Given the description of an element on the screen output the (x, y) to click on. 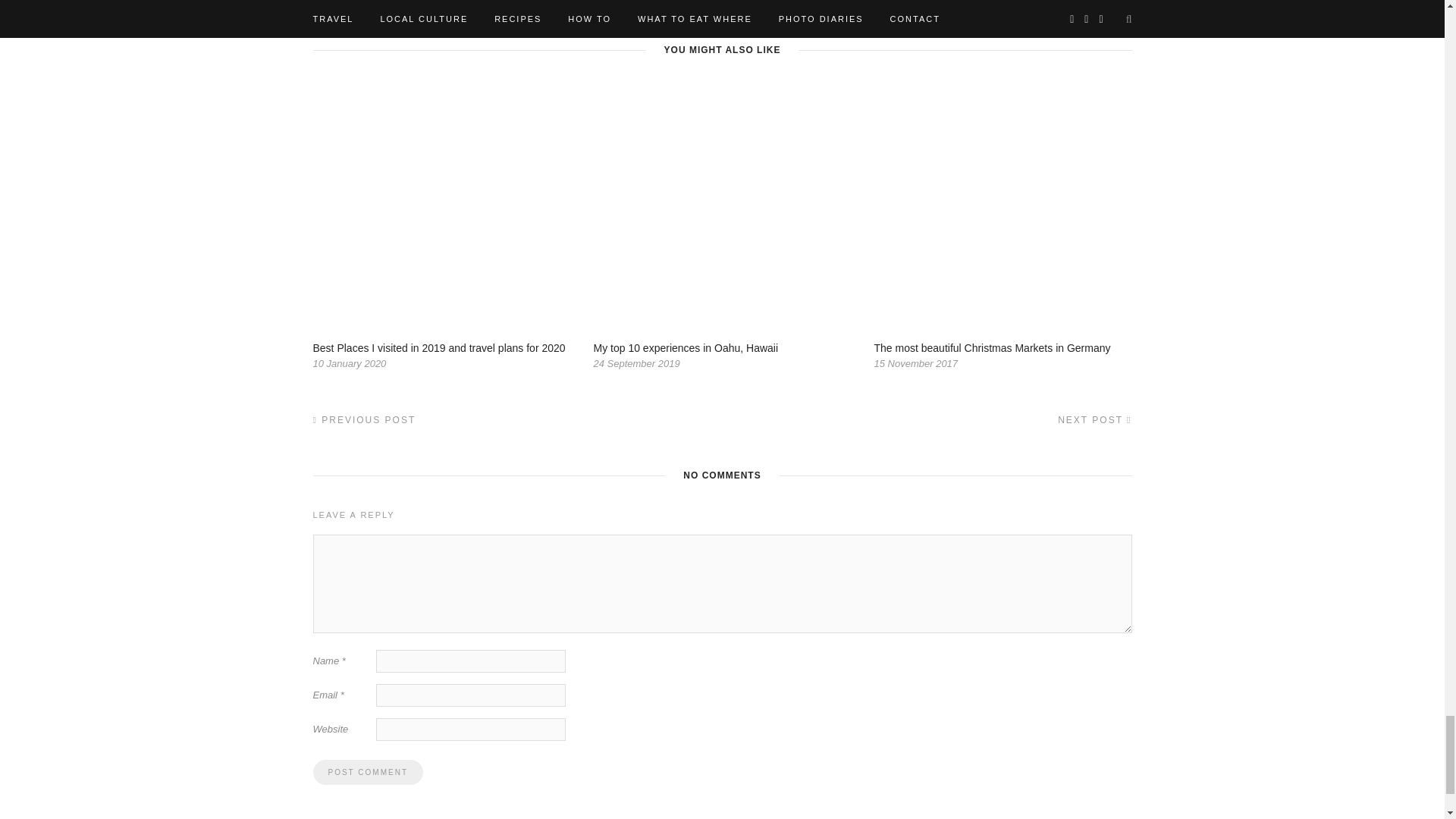
Best Places I visited in 2019 and travel plans for 2020 (438, 347)
My top 10 experiences in Oahu, Hawaii (684, 347)
Post Comment (367, 772)
